Given the description of an element on the screen output the (x, y) to click on. 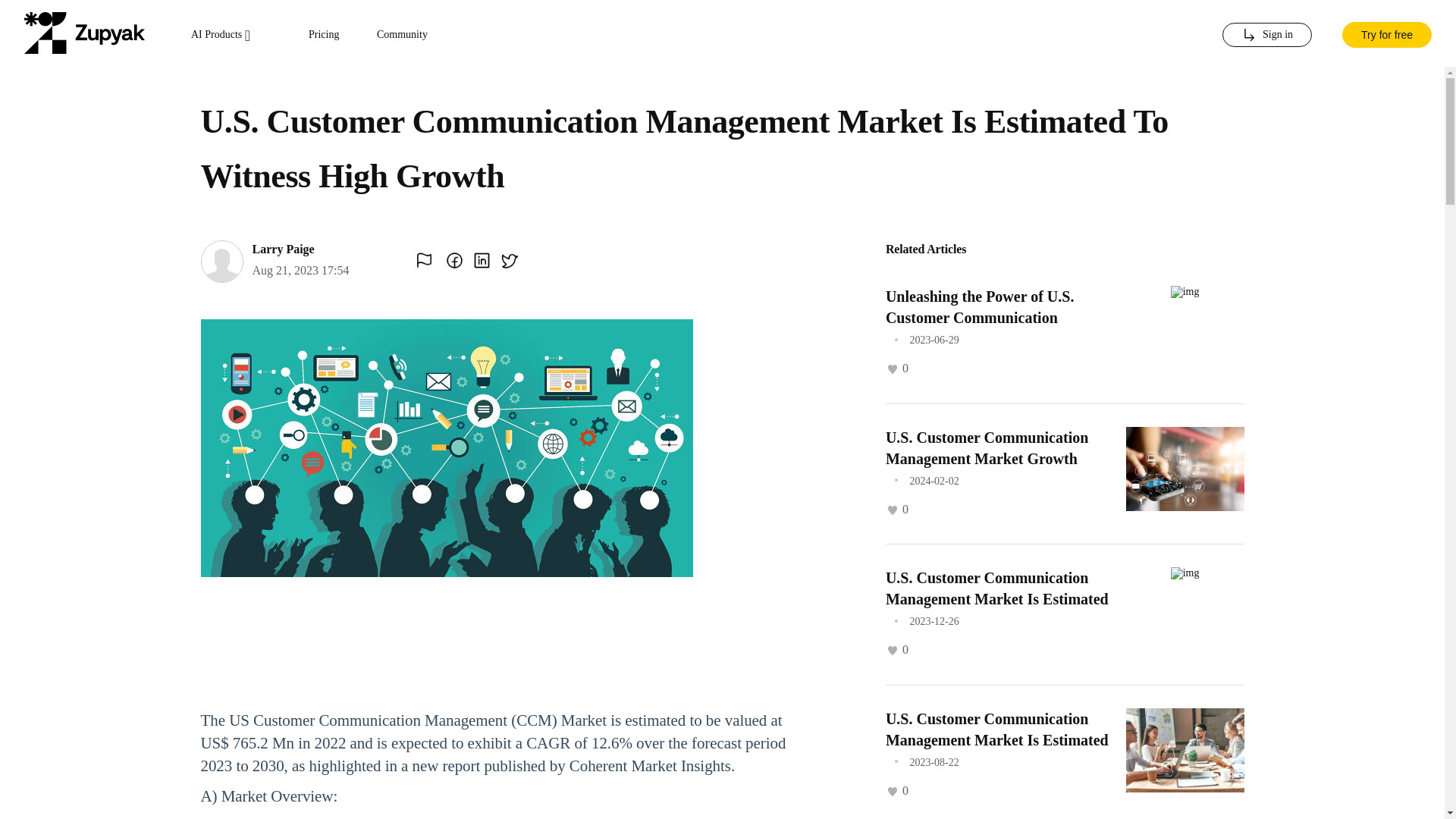
 Sign in (1267, 34)
Community (402, 34)
Pricing (323, 34)
Try for free (1386, 33)
